Given the description of an element on the screen output the (x, y) to click on. 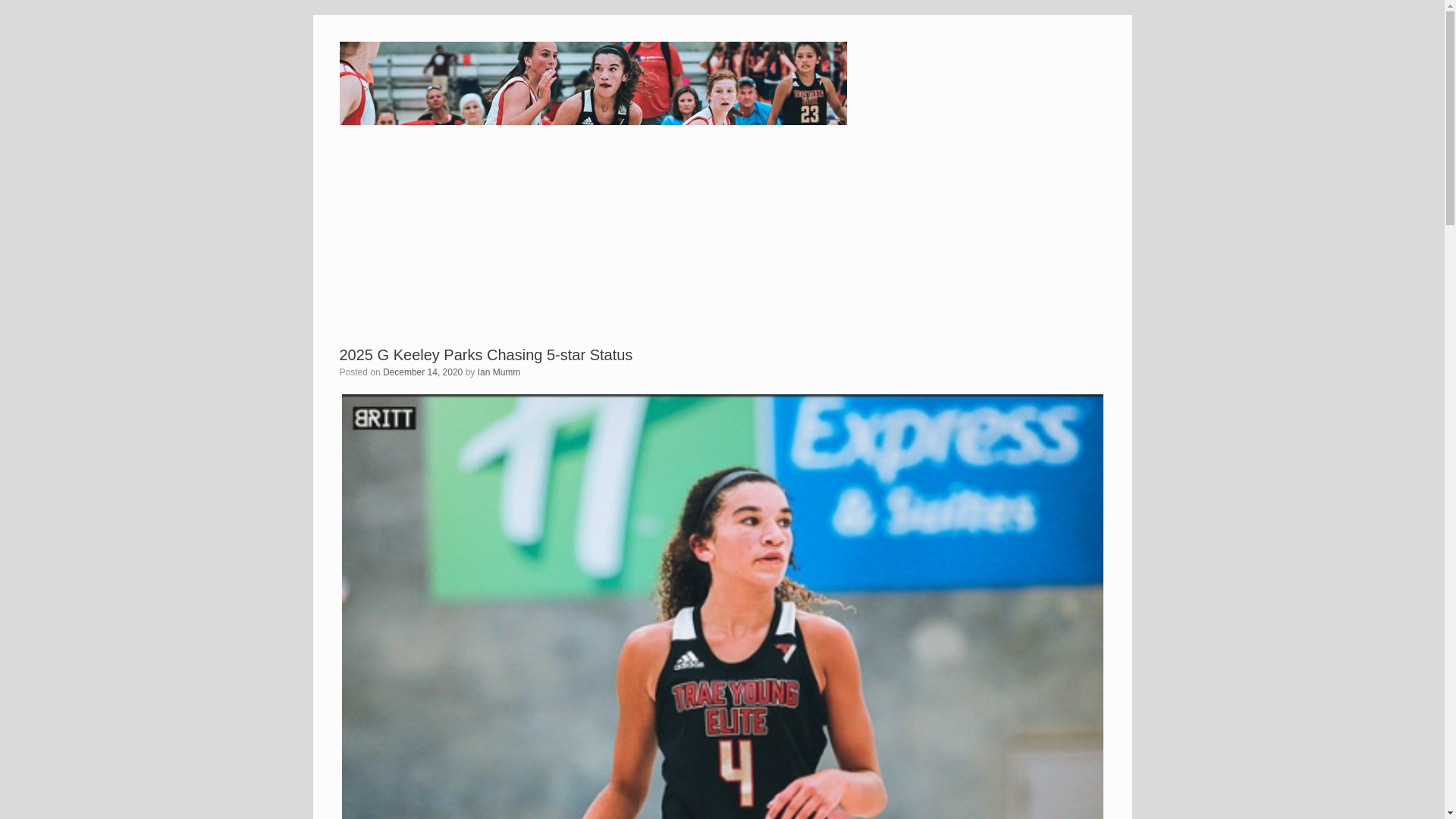
View all posts by Ian Mumm (499, 371)
December 14, 2020 (422, 371)
Ian Mumm (499, 371)
3:29 am (422, 371)
